Given the description of an element on the screen output the (x, y) to click on. 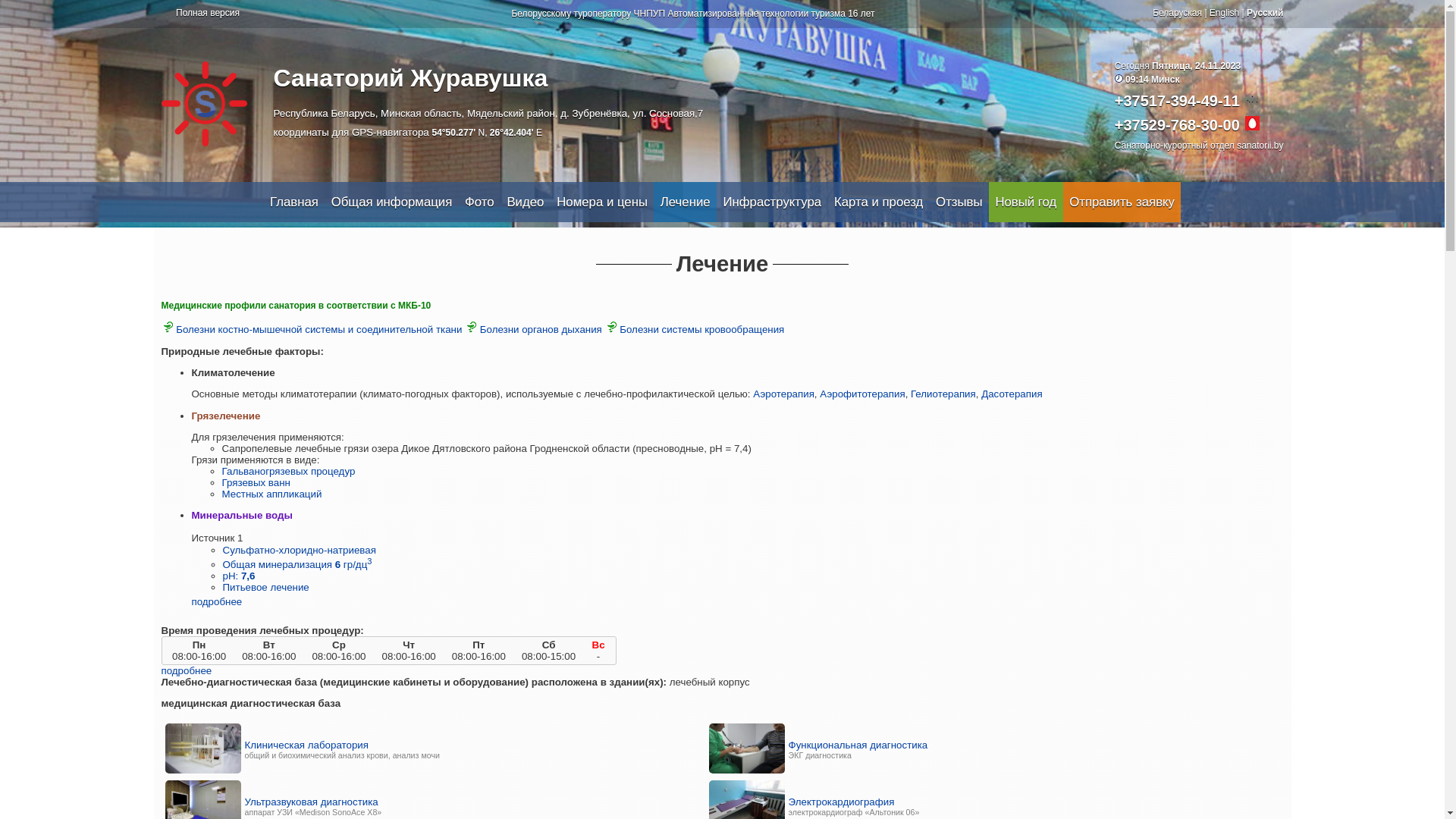
English Element type: text (1224, 12)
+37529-768-30-00 Element type: text (1176, 124)
+37517-394-49-11 Element type: text (1176, 100)
